Given the description of an element on the screen output the (x, y) to click on. 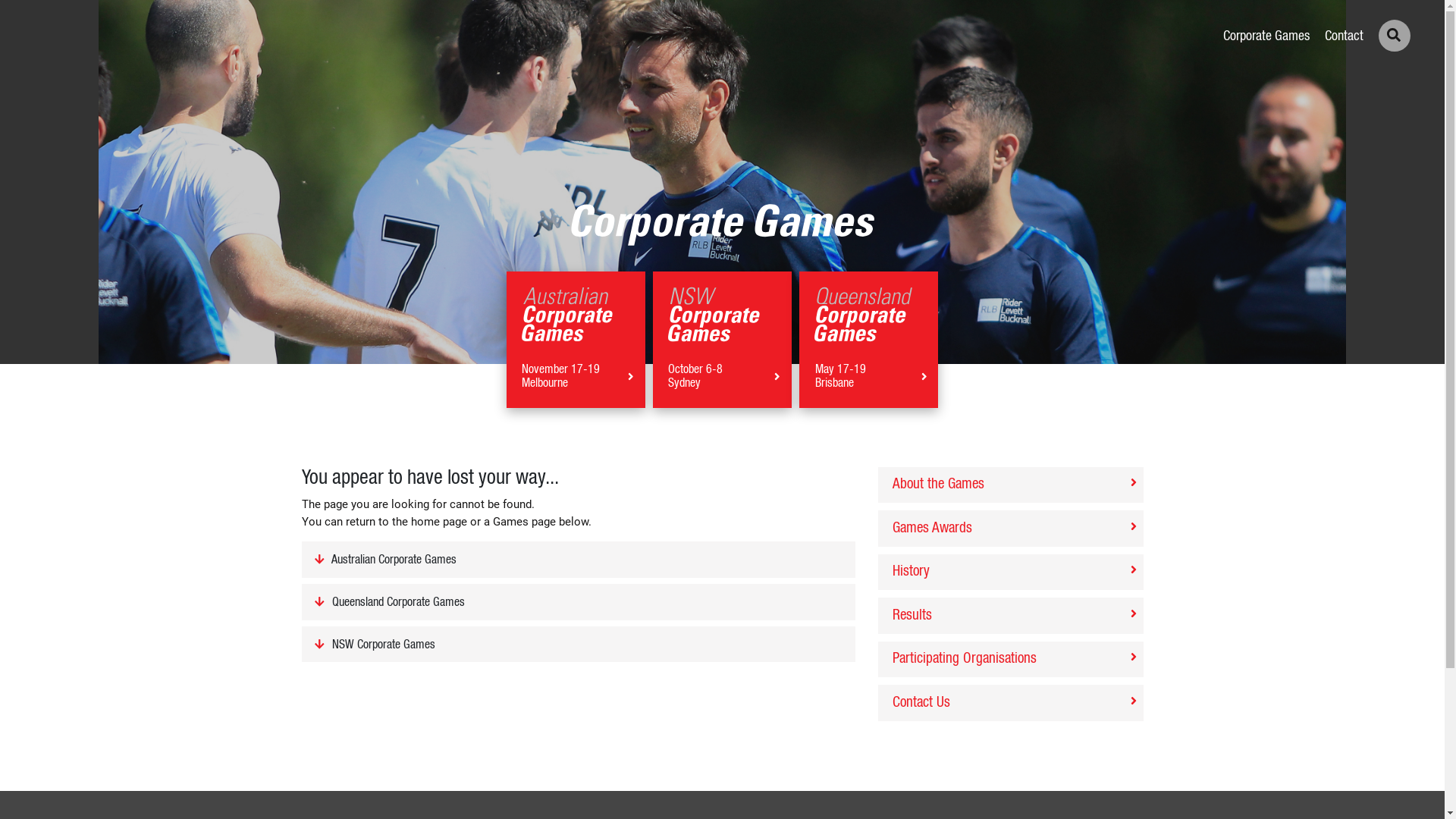
November 17-19
Melbourne Element type: text (575, 339)
Results Element type: text (1010, 615)
History Element type: text (1010, 572)
October 6-8
Sydney Element type: text (722, 339)
Games Awards Element type: text (1010, 528)
Australian Corporate Games Element type: text (578, 559)
Participating Organisations Element type: text (1010, 659)
Contact Us Element type: text (1010, 702)
May 17-19
Brisbane Element type: text (868, 339)
NSW Corporate Games Element type: text (578, 644)
Queensland Corporate Games Element type: text (578, 601)
About the Games Element type: text (1010, 485)
Corporate Games Element type: text (1266, 36)
Contact Element type: text (1343, 36)
